Given the description of an element on the screen output the (x, y) to click on. 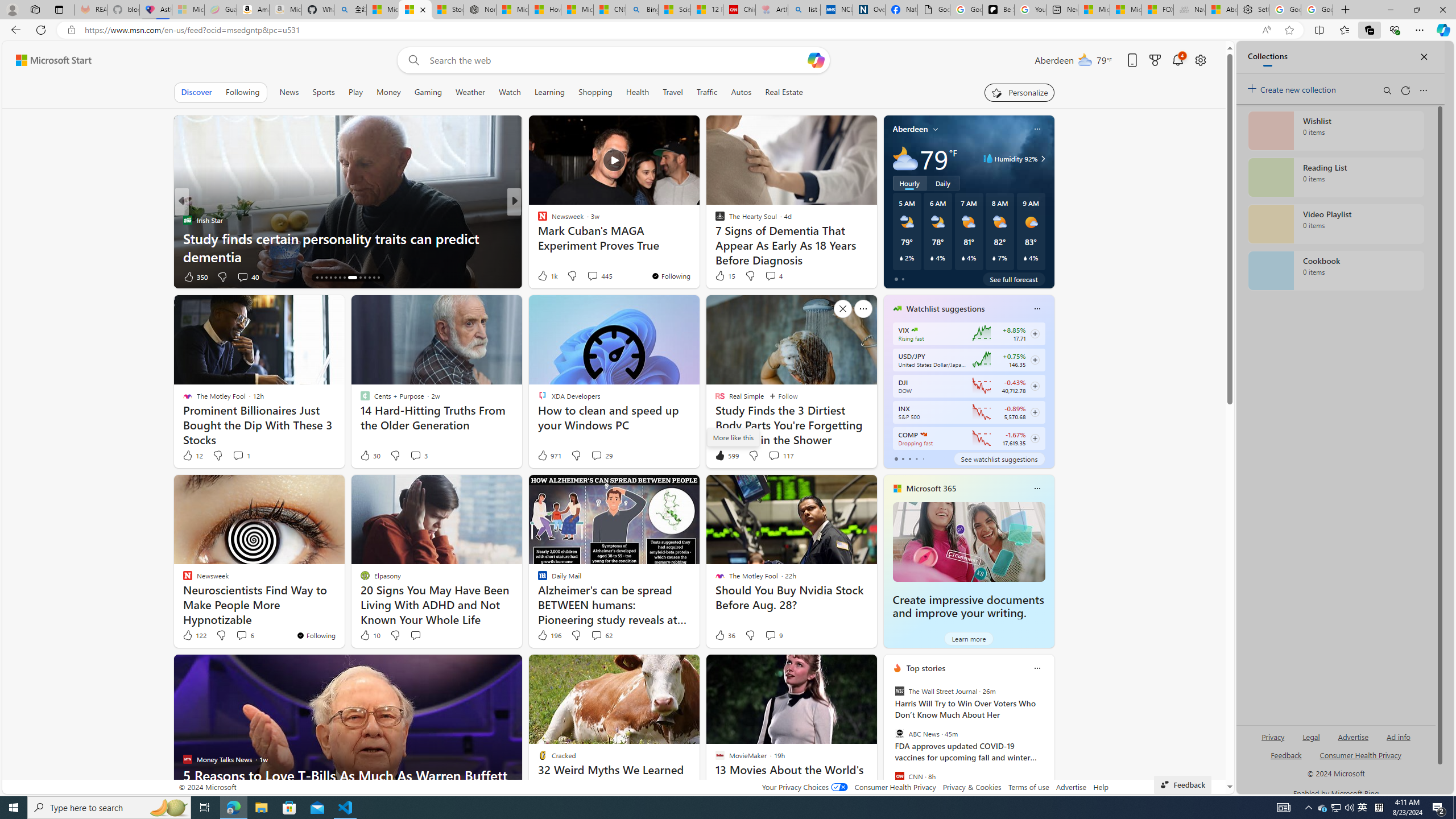
Arthritis: Ask Health Professionals - Sleeping (772, 9)
AutomationID: tab-14 (317, 277)
Create impressive documents and improve your writing. (968, 541)
See full forecast (1013, 278)
Class: weather-arrow-glyph (1043, 158)
AutomationID: genId96 (1285, 759)
tab-2 (908, 458)
Humidity 92% (1040, 158)
